Given the description of an element on the screen output the (x, y) to click on. 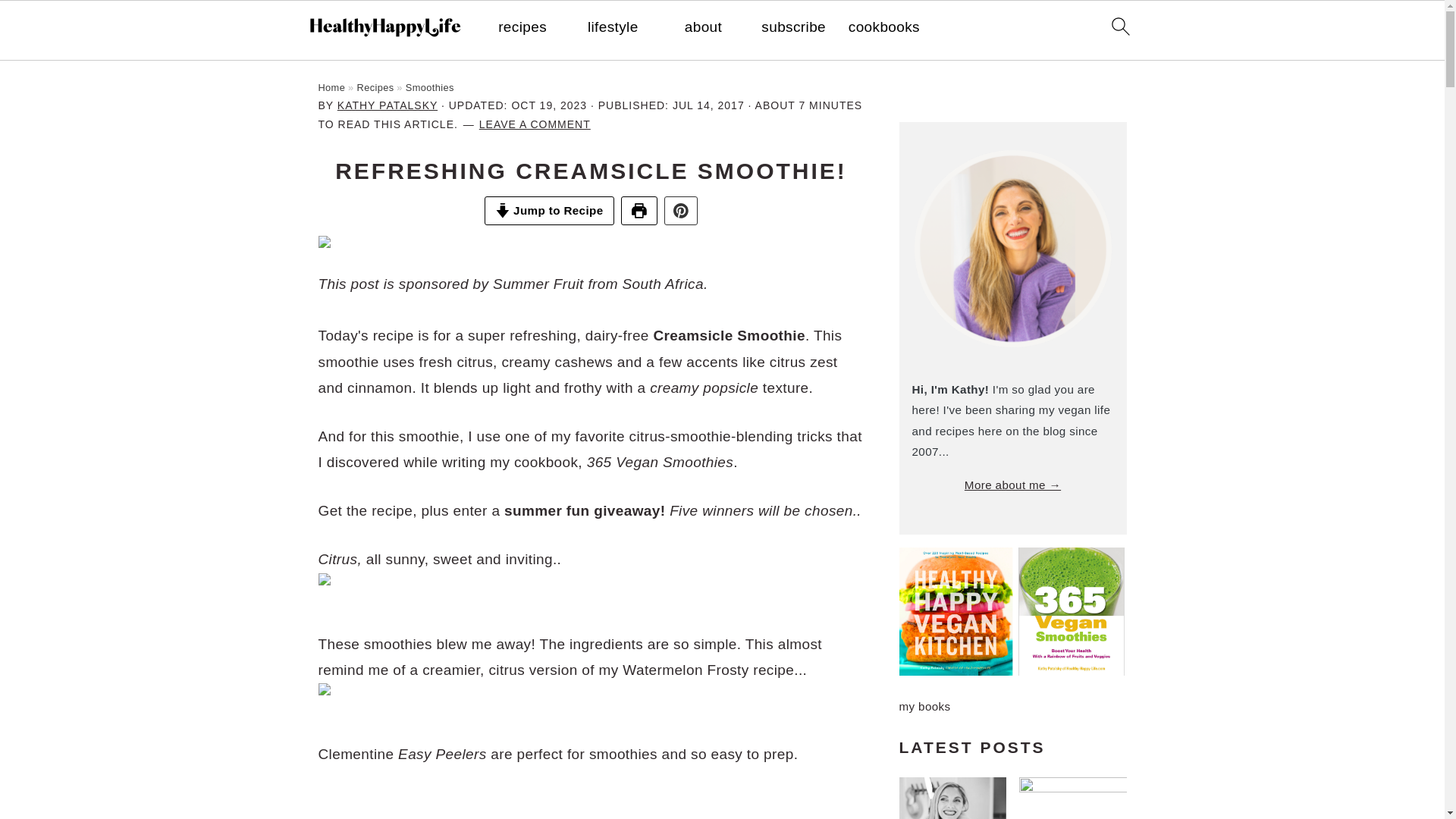
about (703, 27)
recipes (522, 27)
lifestyle (613, 27)
subscribe (793, 27)
search icon (1119, 26)
cookbooks (884, 27)
